Given the description of an element on the screen output the (x, y) to click on. 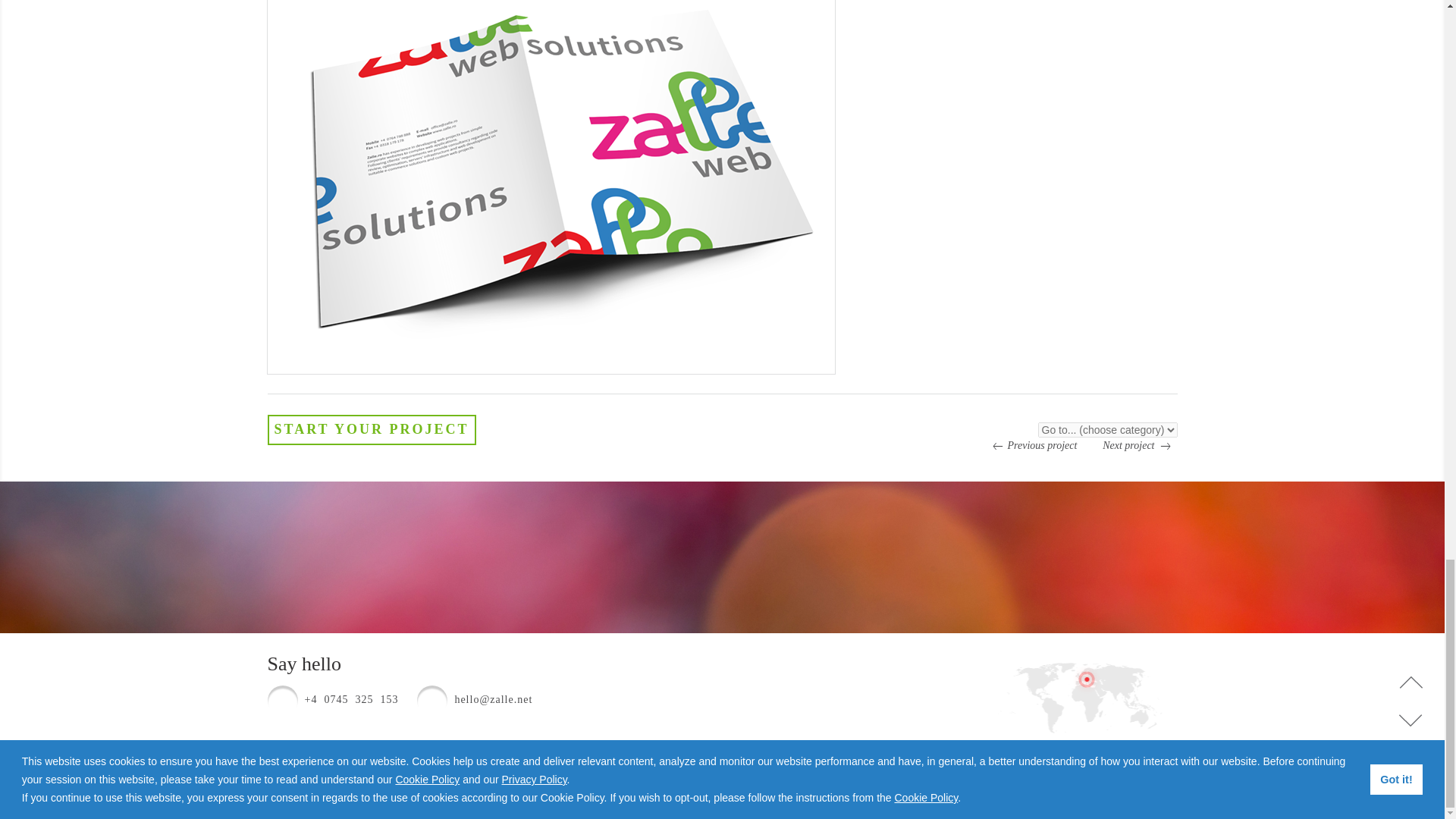
Previous project (1030, 445)
phone (431, 700)
START YOUR PROJECT (370, 429)
Next project (1139, 445)
phone (281, 700)
